Given the description of an element on the screen output the (x, y) to click on. 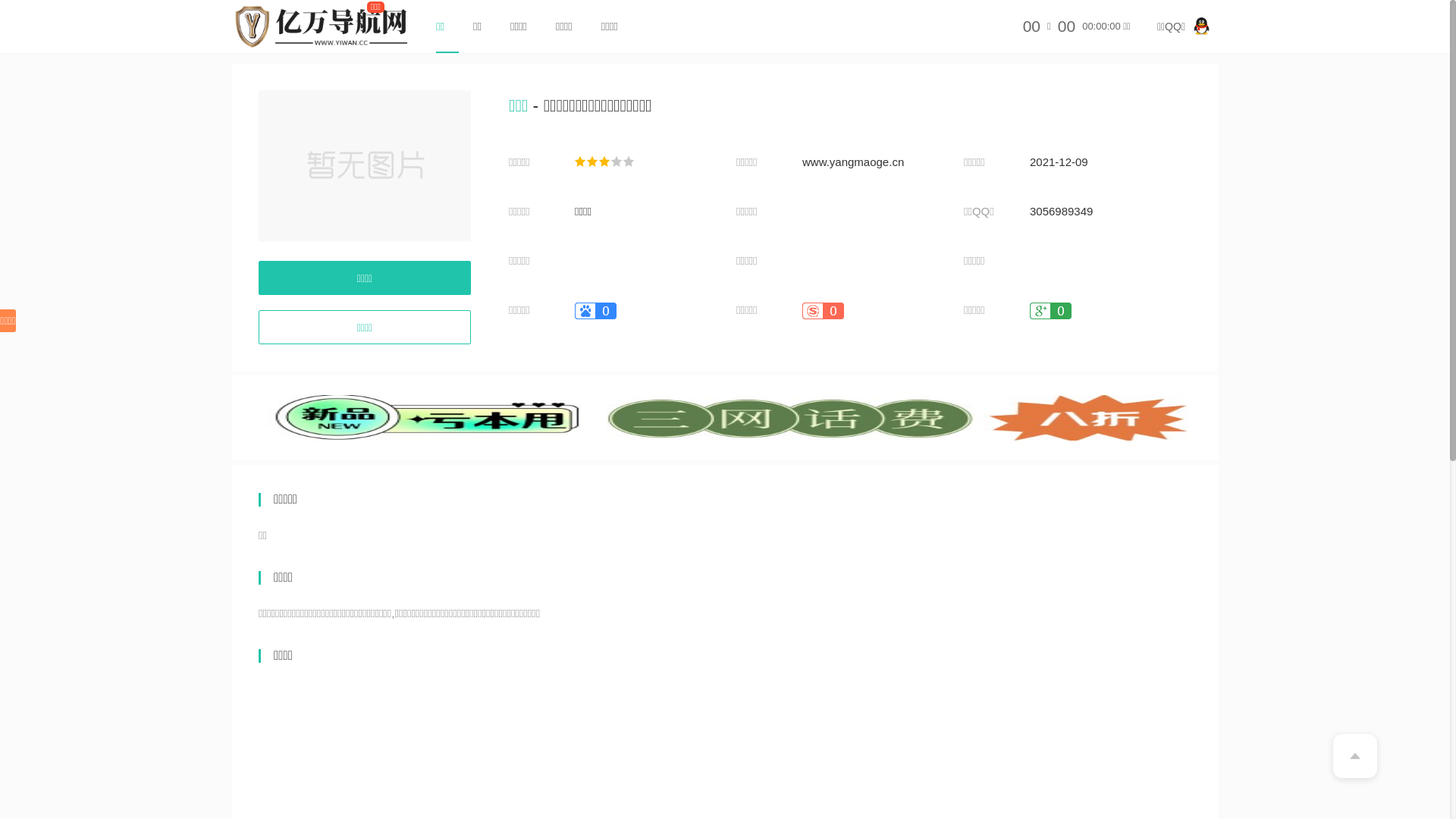
bing Element type: hover (724, 417)
3056989349 Element type: text (1060, 211)
www.yangmaoge.cn Element type: text (852, 162)
2021-12-09 Element type: text (1058, 162)
